Given the description of an element on the screen output the (x, y) to click on. 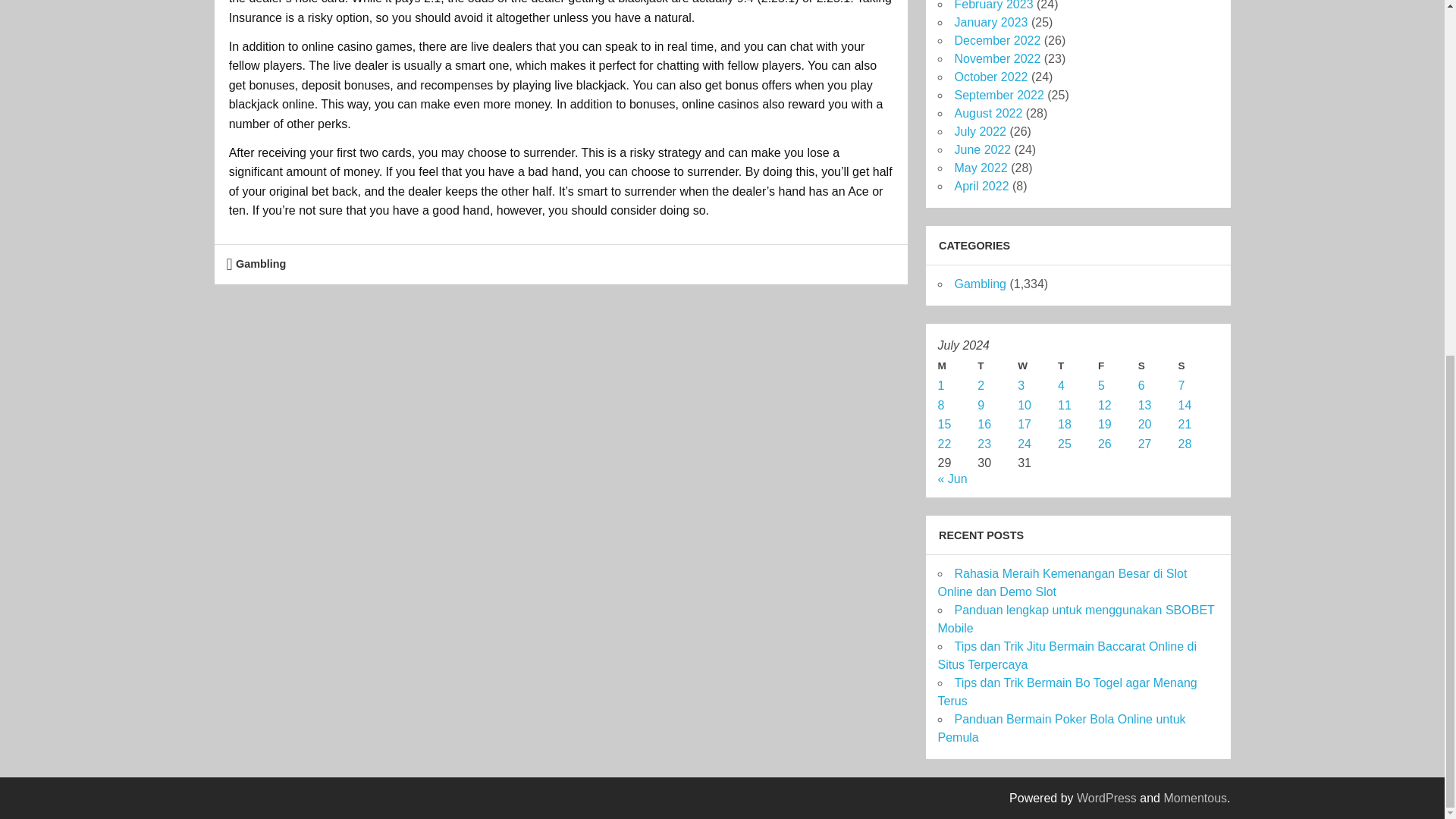
November 2022 (997, 58)
February 2023 (992, 5)
Momentous WordPress Theme (1195, 797)
August 2022 (987, 113)
September 2022 (998, 94)
Saturday (1157, 365)
Gambling (979, 283)
Gambling (260, 263)
Friday (1117, 365)
January 2023 (990, 21)
July 2022 (979, 131)
April 2022 (981, 185)
3 (1021, 385)
Sunday (1197, 365)
2 (980, 385)
